Given the description of an element on the screen output the (x, y) to click on. 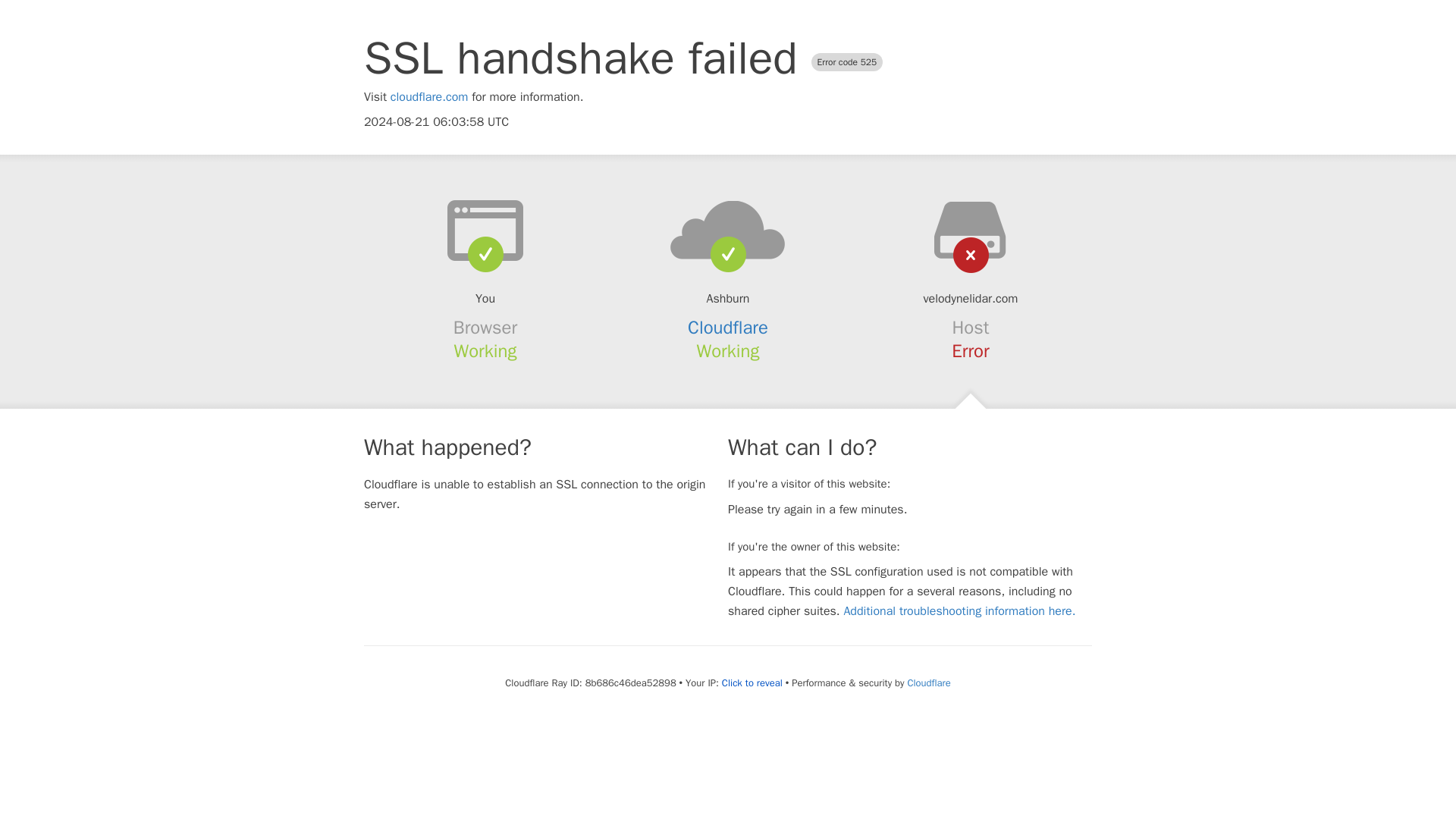
Cloudflare (727, 327)
Cloudflare (928, 682)
Click to reveal (752, 683)
Additional troubleshooting information here. (959, 611)
cloudflare.com (429, 96)
